Given the description of an element on the screen output the (x, y) to click on. 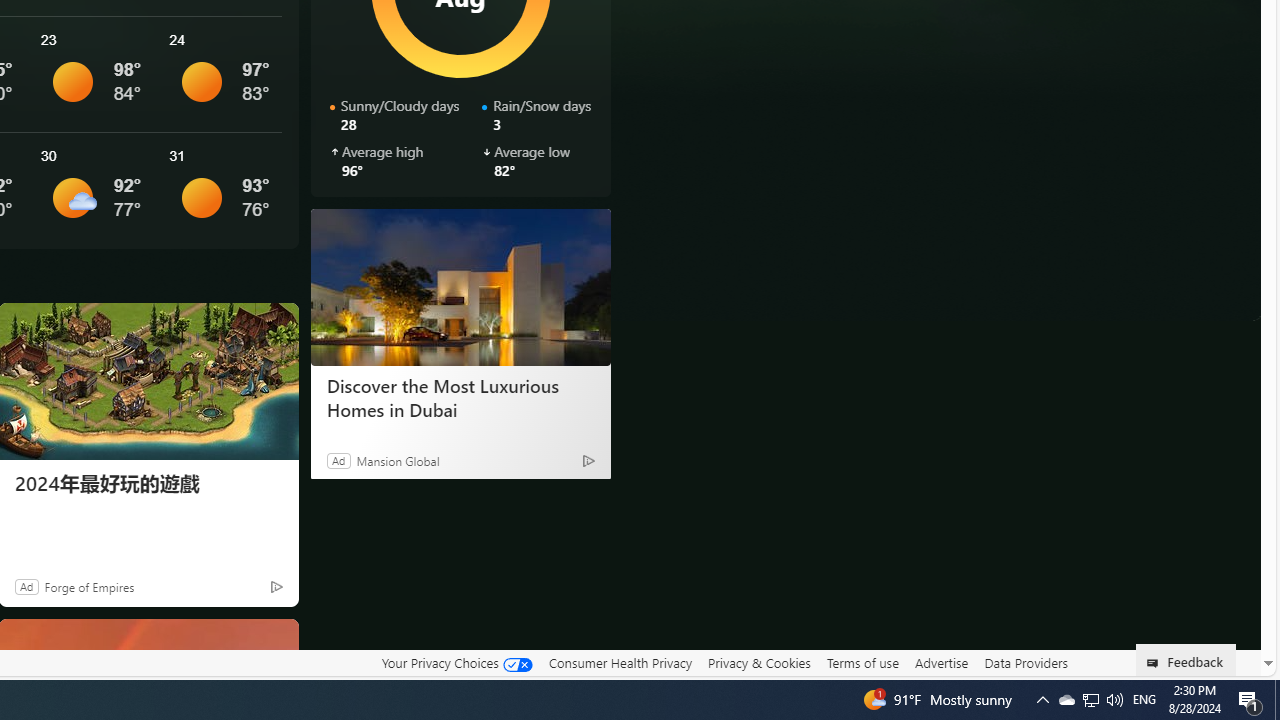
Advertise (940, 663)
Discover the Most Luxurious Homes in Dubai (459, 286)
Discover the Most Luxurious Homes in Dubai (460, 397)
Terms of use (861, 662)
Data Providers (1025, 663)
Privacy & Cookies (759, 663)
Forge of Empires (88, 586)
